Given the description of an element on the screen output the (x, y) to click on. 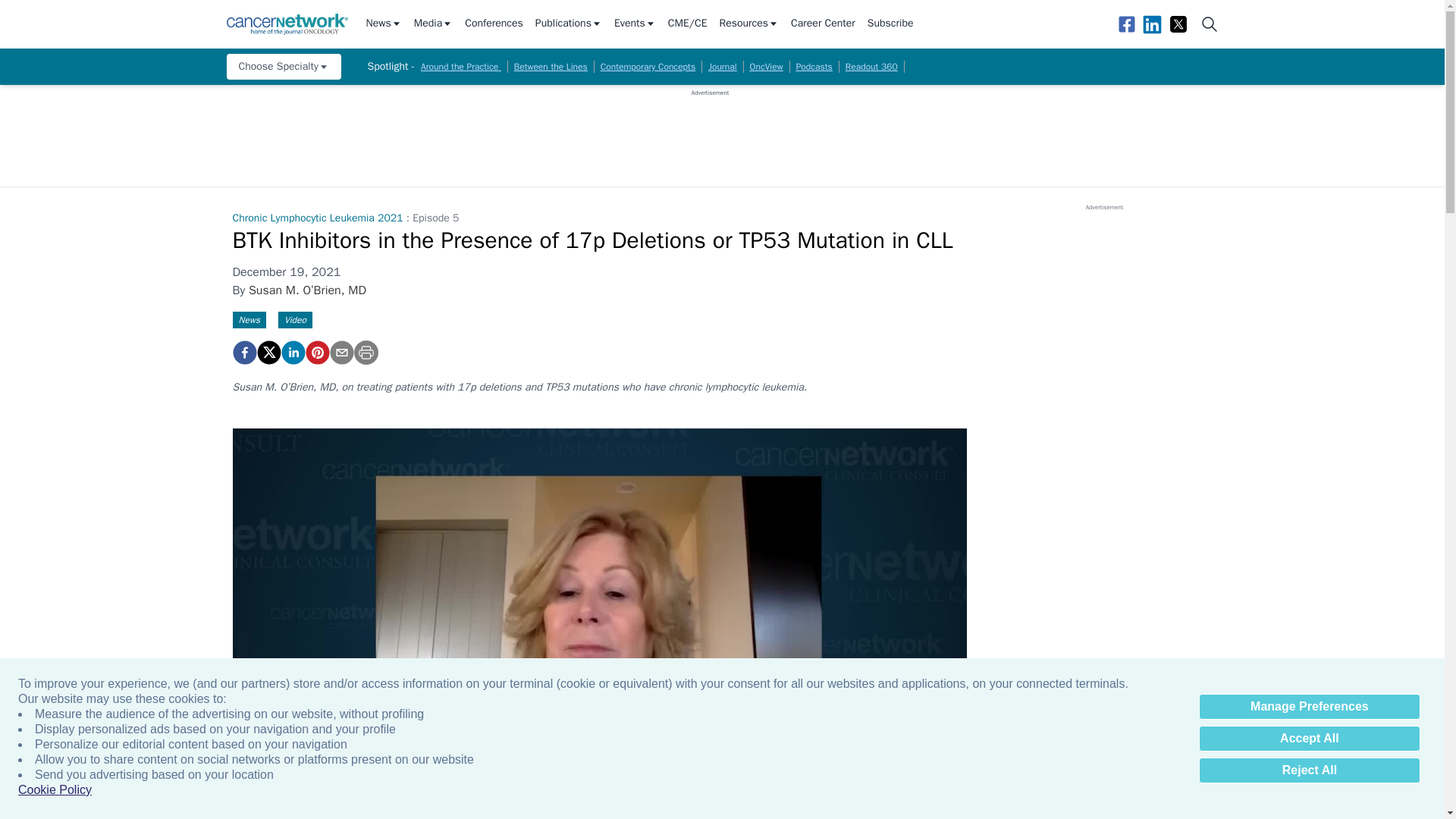
Media (432, 23)
News (383, 23)
3rd party ad content (710, 131)
Conferences (493, 23)
Reject All (1309, 769)
Events (635, 23)
Cookie Policy (54, 789)
Publications (568, 23)
Manage Preferences (1309, 706)
Accept All (1309, 738)
